Given the description of an element on the screen output the (x, y) to click on. 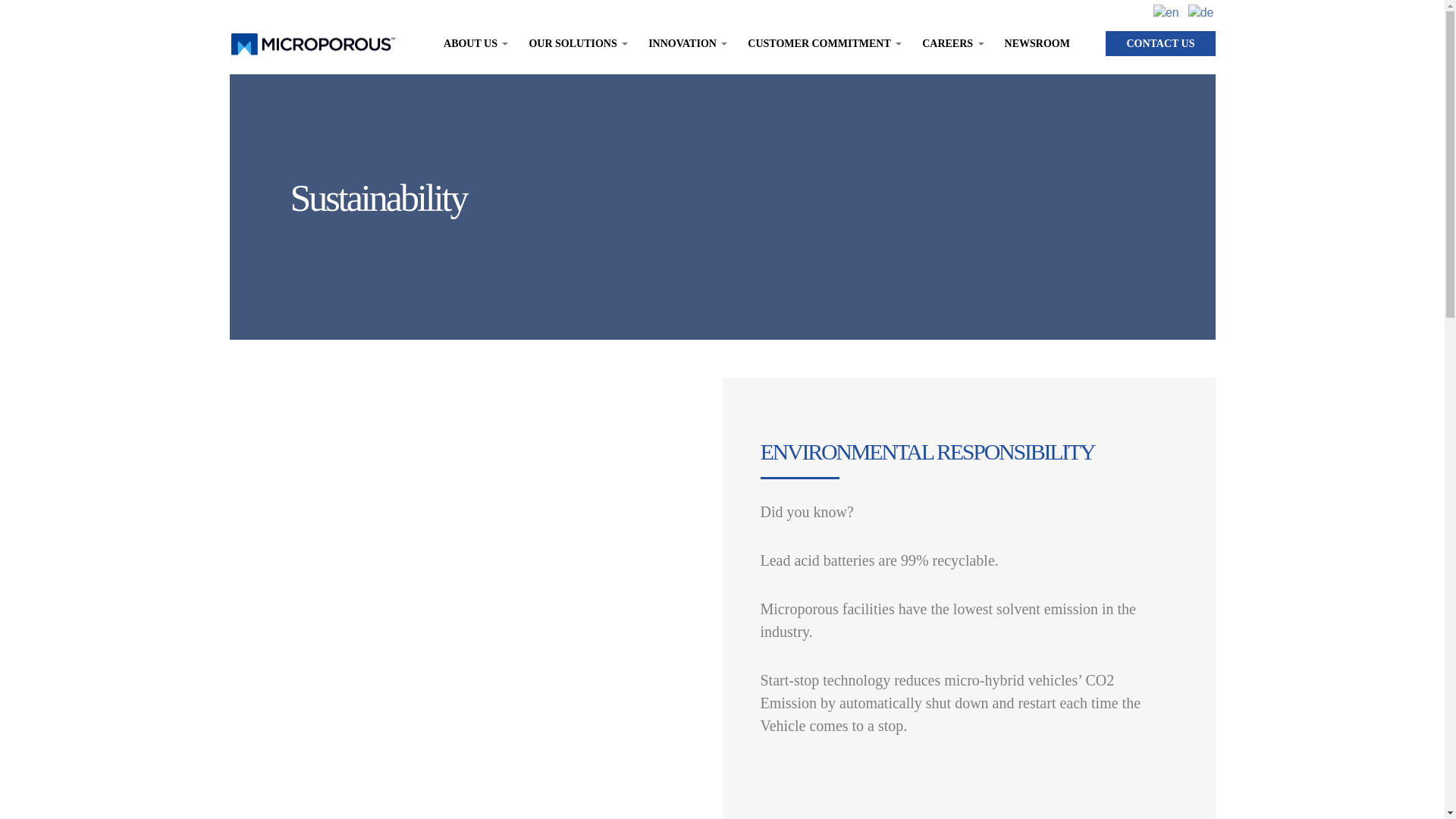
Open Cookie Preferences (32, 784)
CUSTOMER COMMITMENT (818, 43)
CONTACT US (1159, 43)
OUR SOLUTIONS (571, 43)
NEWSROOM (1037, 43)
German (1201, 11)
CAREERS (946, 43)
INNOVATION (681, 43)
English (1166, 11)
ABOUT US (470, 43)
